Given the description of an element on the screen output the (x, y) to click on. 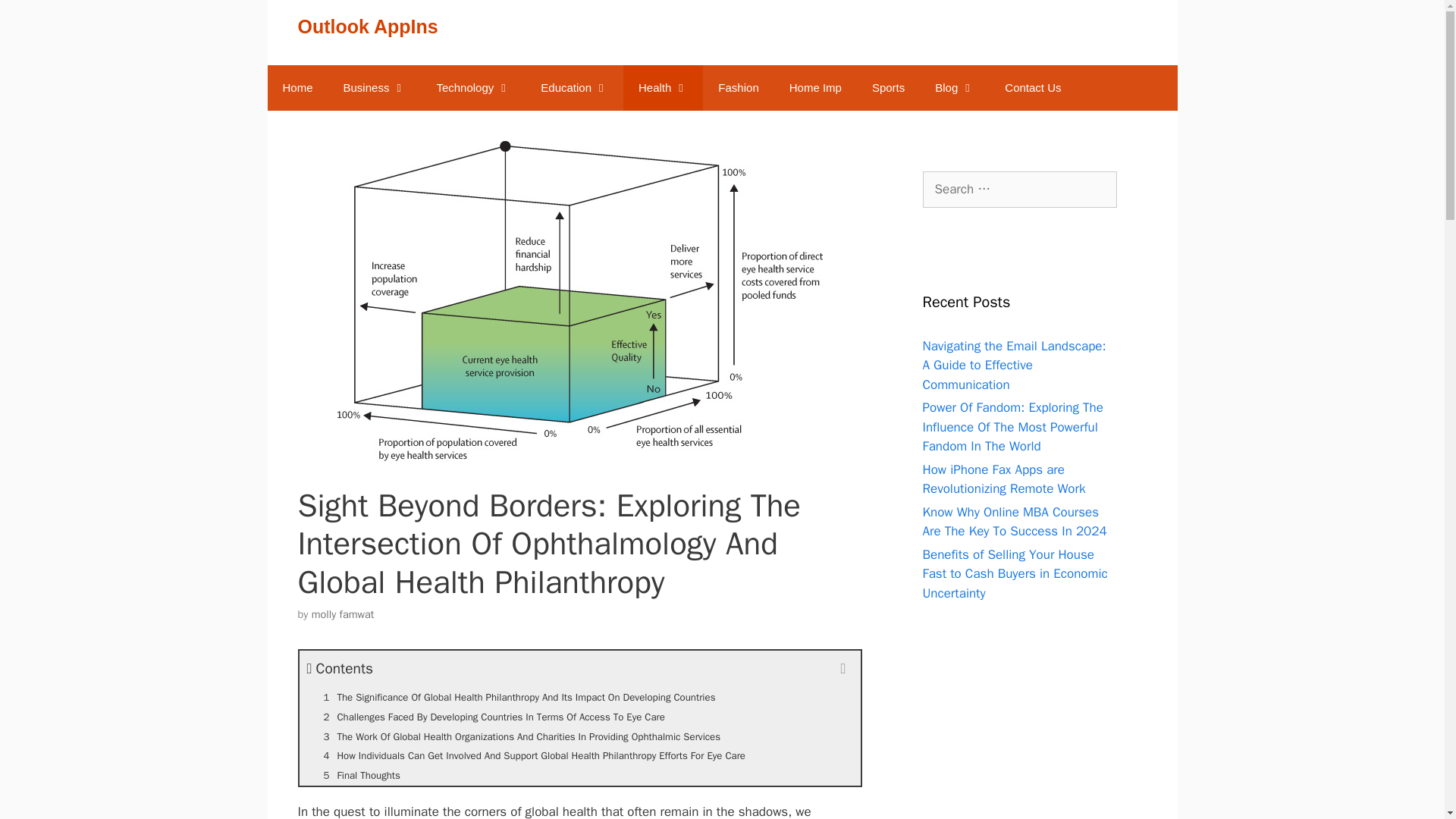
View all posts by molly famwat (342, 613)
Search for: (1018, 189)
Outlook Appins (296, 87)
Home (296, 87)
Business (375, 87)
Education (574, 87)
Technology (472, 87)
Outlook AppIns (367, 25)
